Given the description of an element on the screen output the (x, y) to click on. 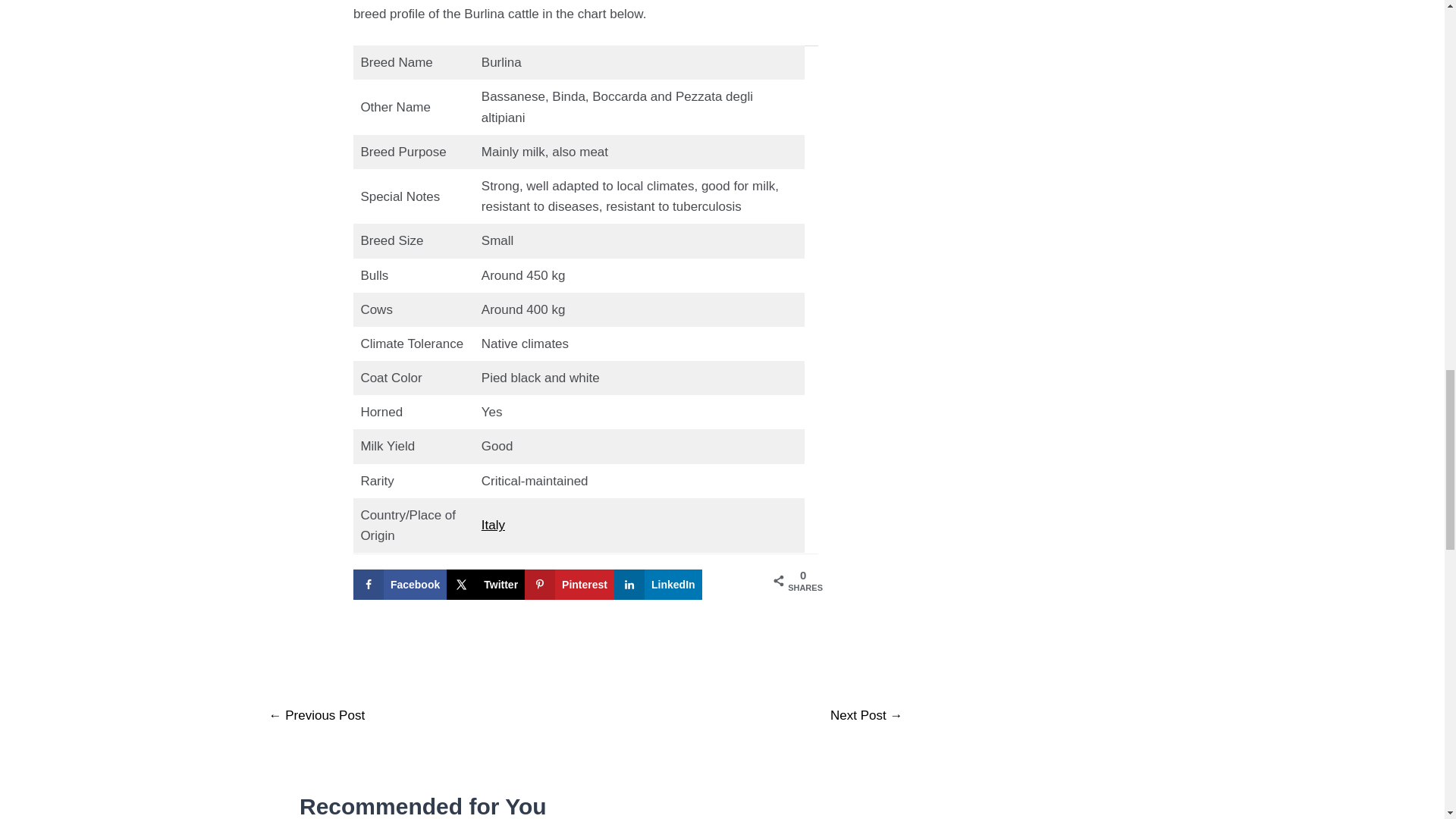
Share on Facebook (399, 584)
Share on LinkedIn (657, 584)
Save to Pinterest (569, 584)
Share on X (485, 584)
